Given the description of an element on the screen output the (x, y) to click on. 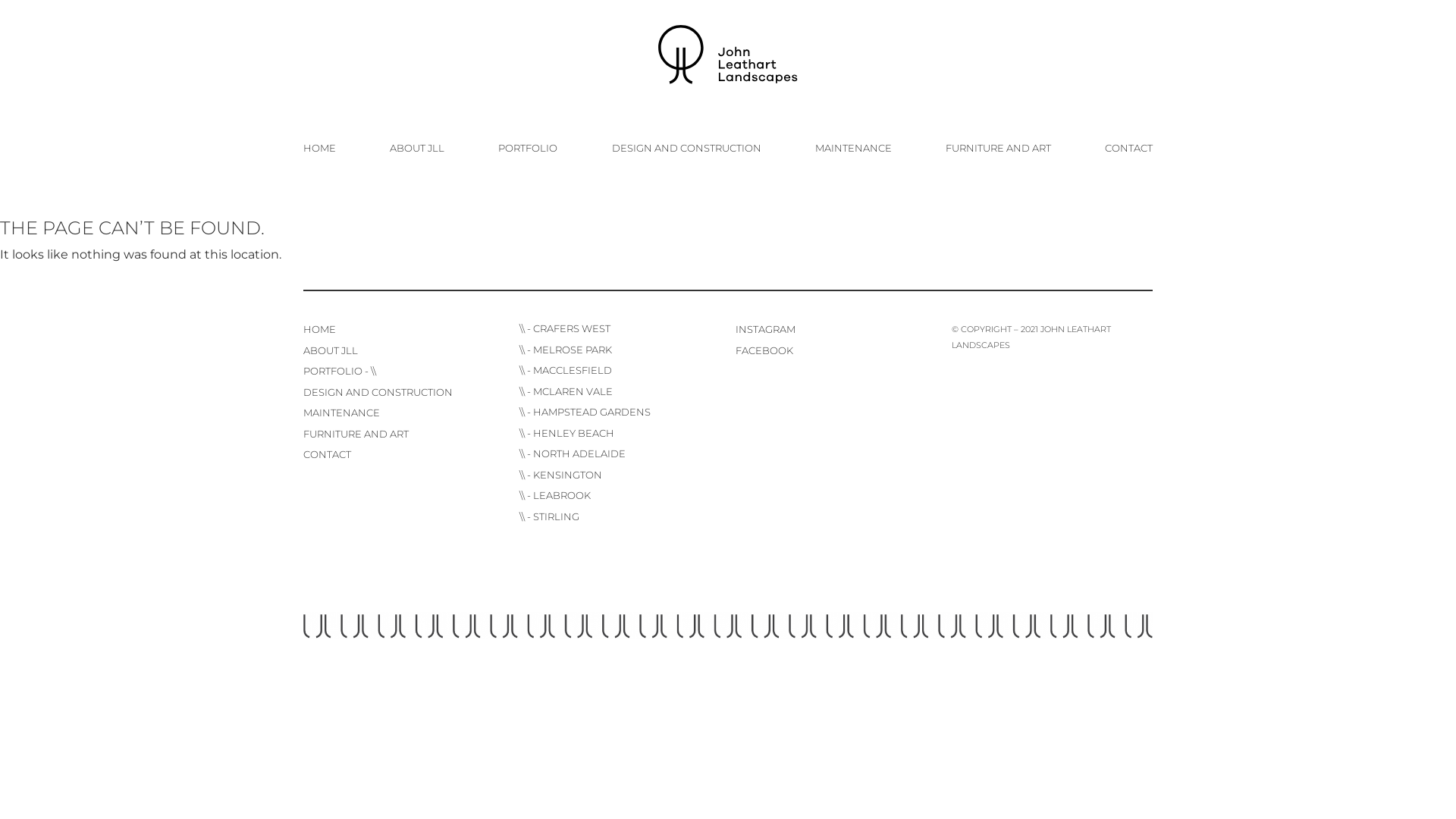
MELROSE PARK Element type: text (572, 349)
FACEBOOK Element type: text (764, 350)
HENLEY BEACH Element type: text (573, 432)
STIRLING Element type: text (556, 516)
MAINTENANCE Element type: text (341, 412)
CRAFERS WEST Element type: text (571, 328)
FURNITURE AND ART Element type: text (998, 147)
NORTH ADELAIDE Element type: text (579, 453)
HOME Element type: text (319, 147)
HOME Element type: text (319, 329)
MCLAREN VALE Element type: text (572, 391)
DESIGN AND CONSTRUCTION Element type: text (686, 147)
CONTACT Element type: text (327, 454)
INSTAGRAM Element type: text (765, 329)
MACCLESFIELD Element type: text (572, 370)
DESIGN AND CONSTRUCTION Element type: text (377, 392)
KENSINGTON Element type: text (567, 474)
HAMPSTEAD GARDENS Element type: text (591, 411)
LEABROOK Element type: text (561, 495)
CONTACT Element type: text (1128, 147)
FURNITURE AND ART Element type: text (355, 434)
ABOUT JLL Element type: text (330, 350)
PORTFOLIO Element type: text (527, 147)
PORTFOLIO Element type: text (332, 371)
MAINTENANCE Element type: text (853, 147)
ABOUT JLL Element type: text (416, 147)
